Given the description of an element on the screen output the (x, y) to click on. 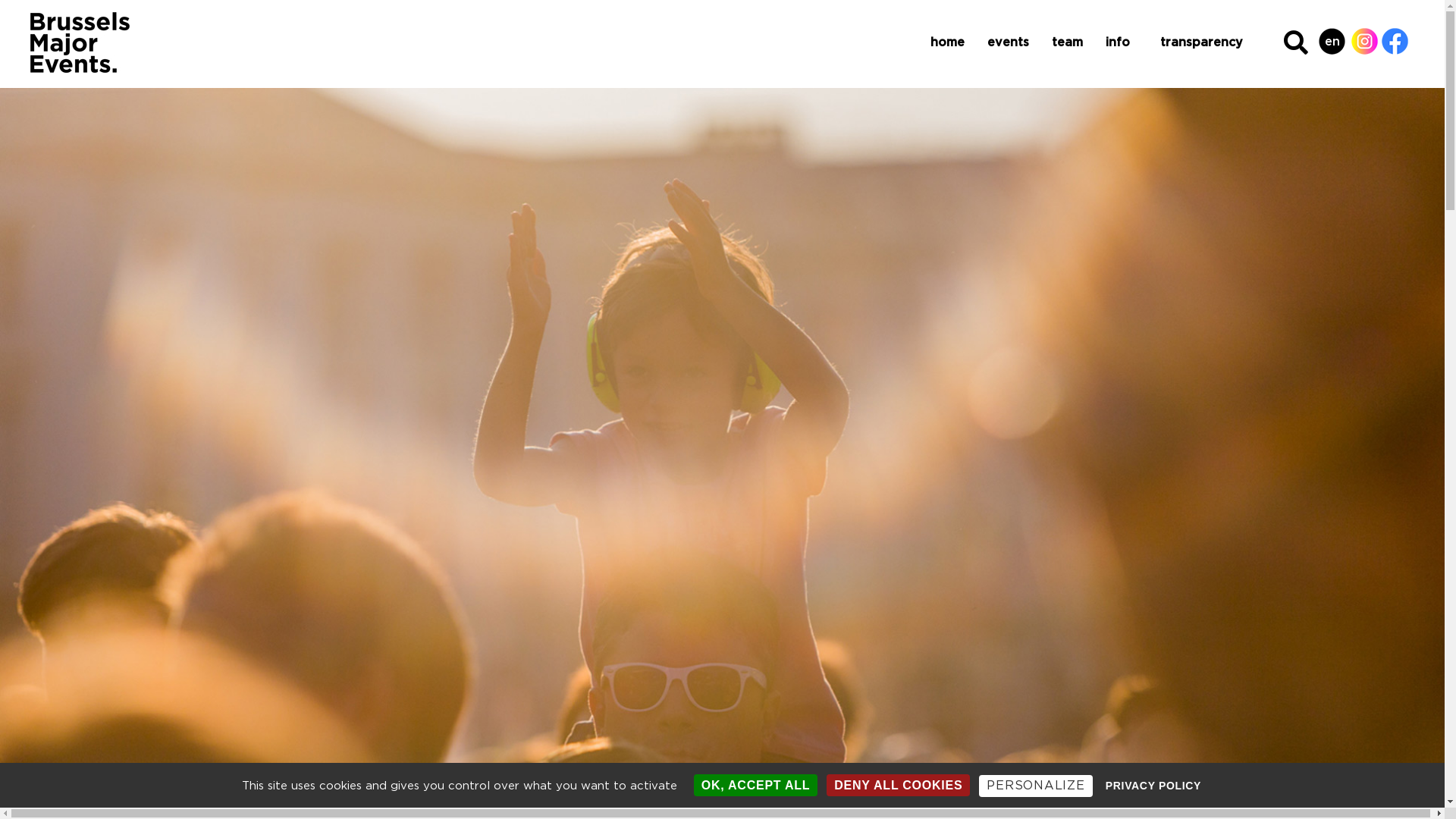
en Element type: text (1335, 36)
OK, ACCEPT ALL Element type: text (755, 785)
PERSONALIZE Element type: text (1035, 786)
events Element type: text (1007, 42)
transparency Element type: text (1204, 42)
DENY ALL COOKIES Element type: text (897, 785)
home Element type: text (947, 42)
team Element type: text (1067, 42)
info Element type: text (1121, 42)
PRIVACY POLICY Element type: text (1153, 785)
